Given the description of an element on the screen output the (x, y) to click on. 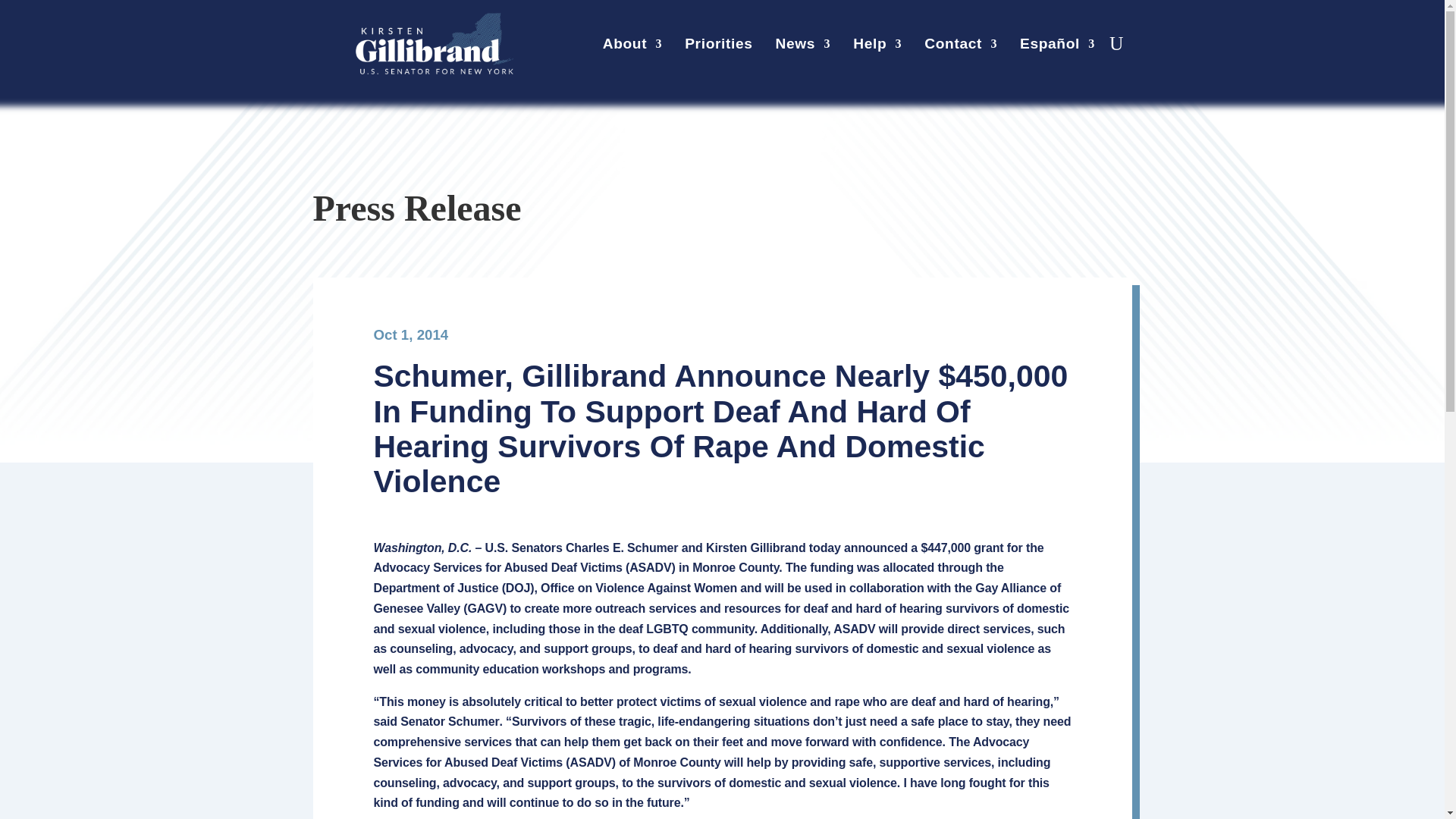
gillibrand-logo (434, 43)
Help (877, 46)
Contact (960, 46)
News (803, 46)
About (632, 46)
Priorities (718, 46)
